Given the description of an element on the screen output the (x, y) to click on. 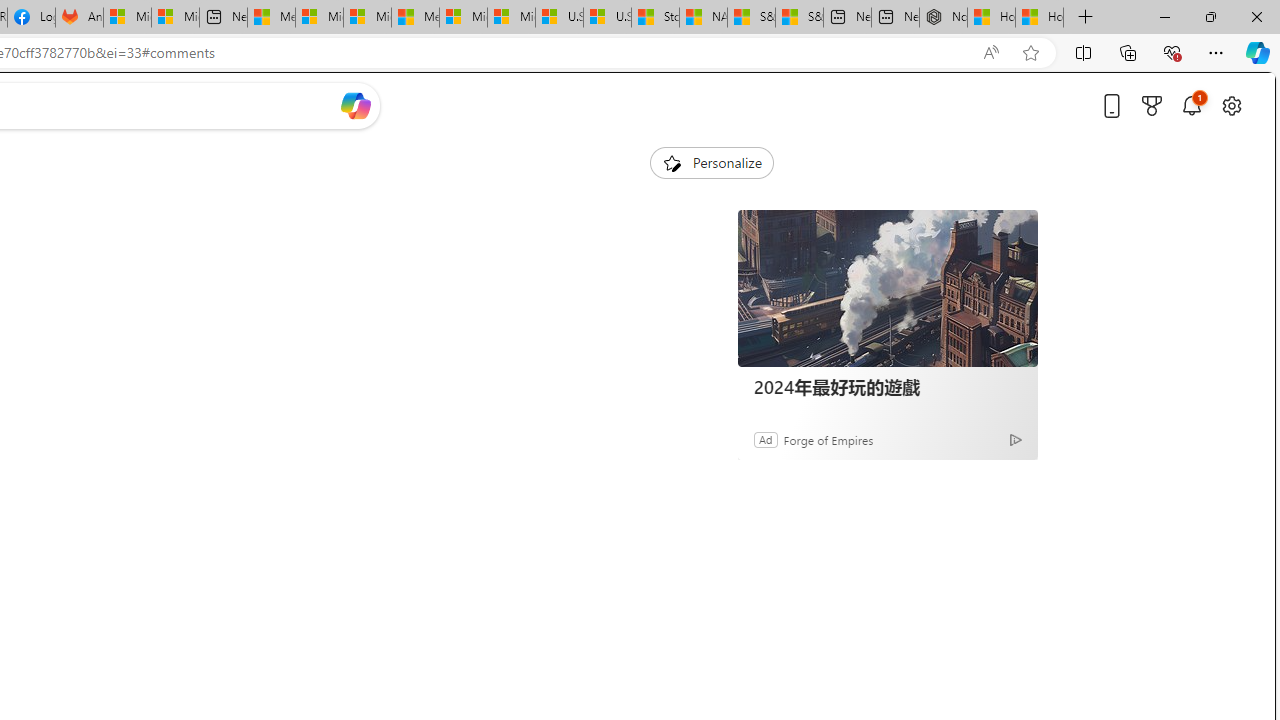
Forge of Empires (828, 439)
Microsoft account | Privacy (319, 17)
